Given the description of an element on the screen output the (x, y) to click on. 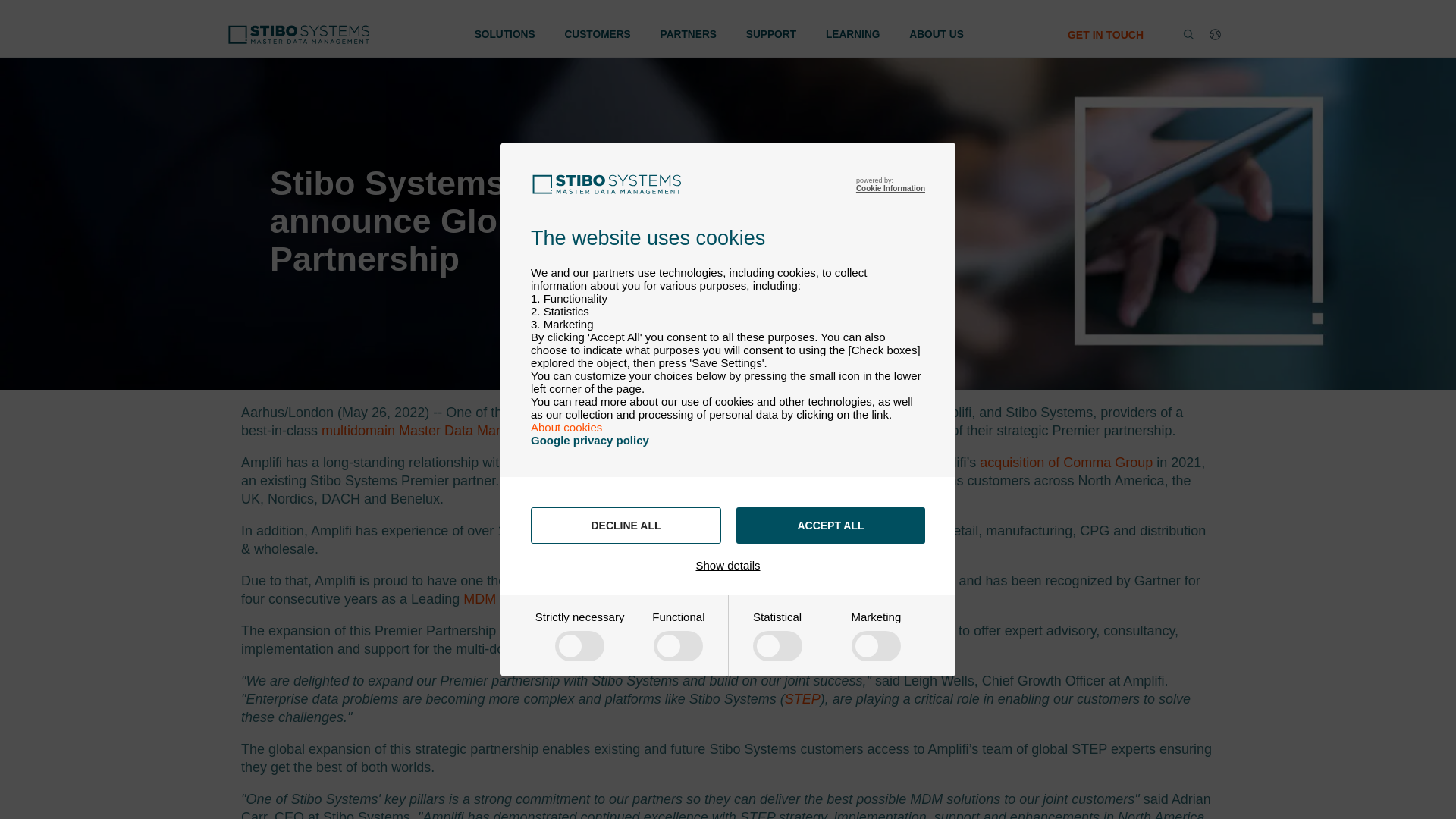
About cookies (566, 427)
Cookie Information (890, 188)
Google privacy policy (590, 440)
DECLINE ALL (625, 524)
ACCEPT ALL (830, 524)
Show details (727, 564)
